Given the description of an element on the screen output the (x, y) to click on. 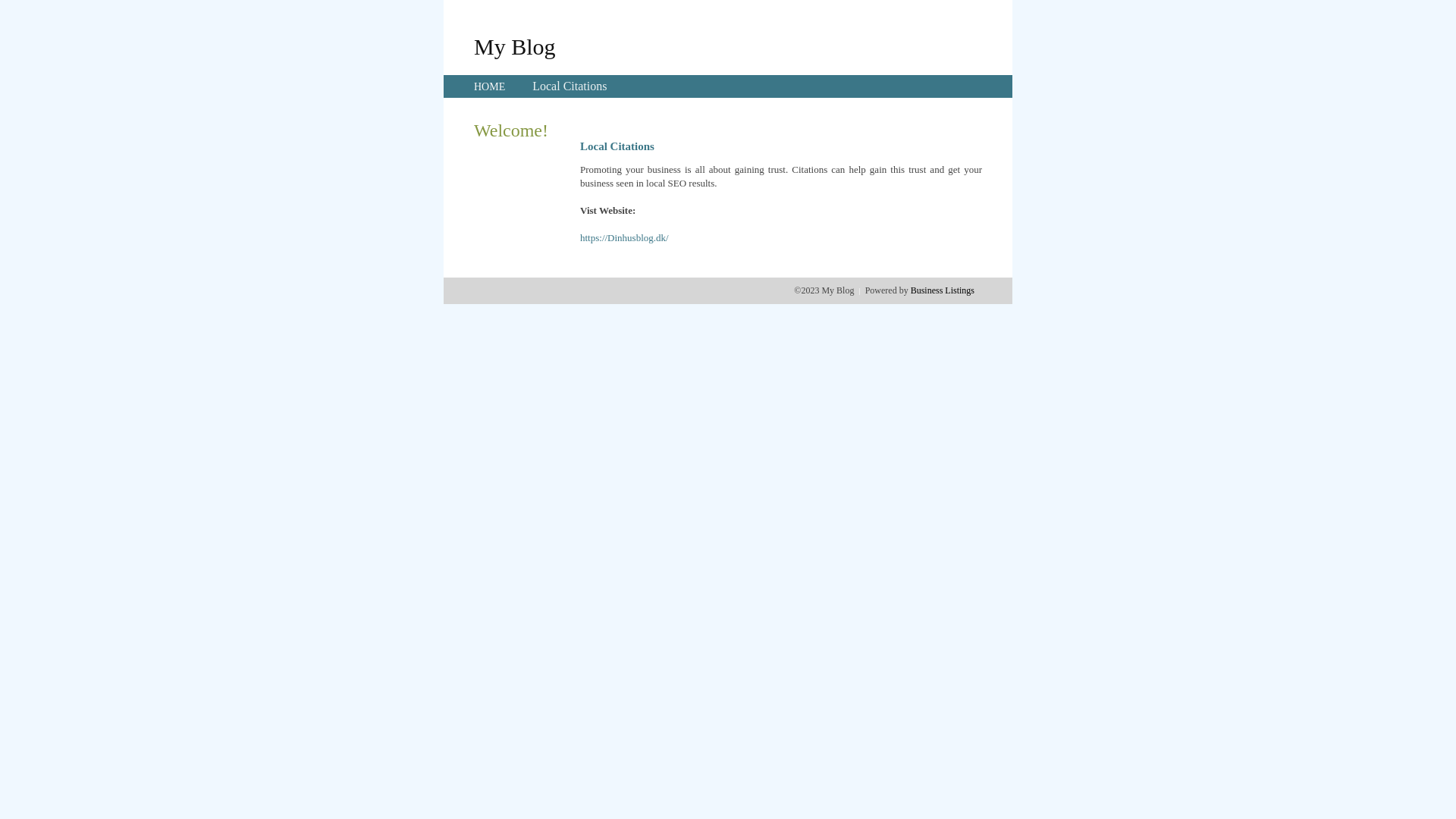
HOME Element type: text (489, 86)
Local Citations Element type: text (569, 85)
https://Dinhusblog.dk/ Element type: text (624, 237)
My Blog Element type: text (514, 46)
Business Listings Element type: text (942, 290)
